Given the description of an element on the screen output the (x, y) to click on. 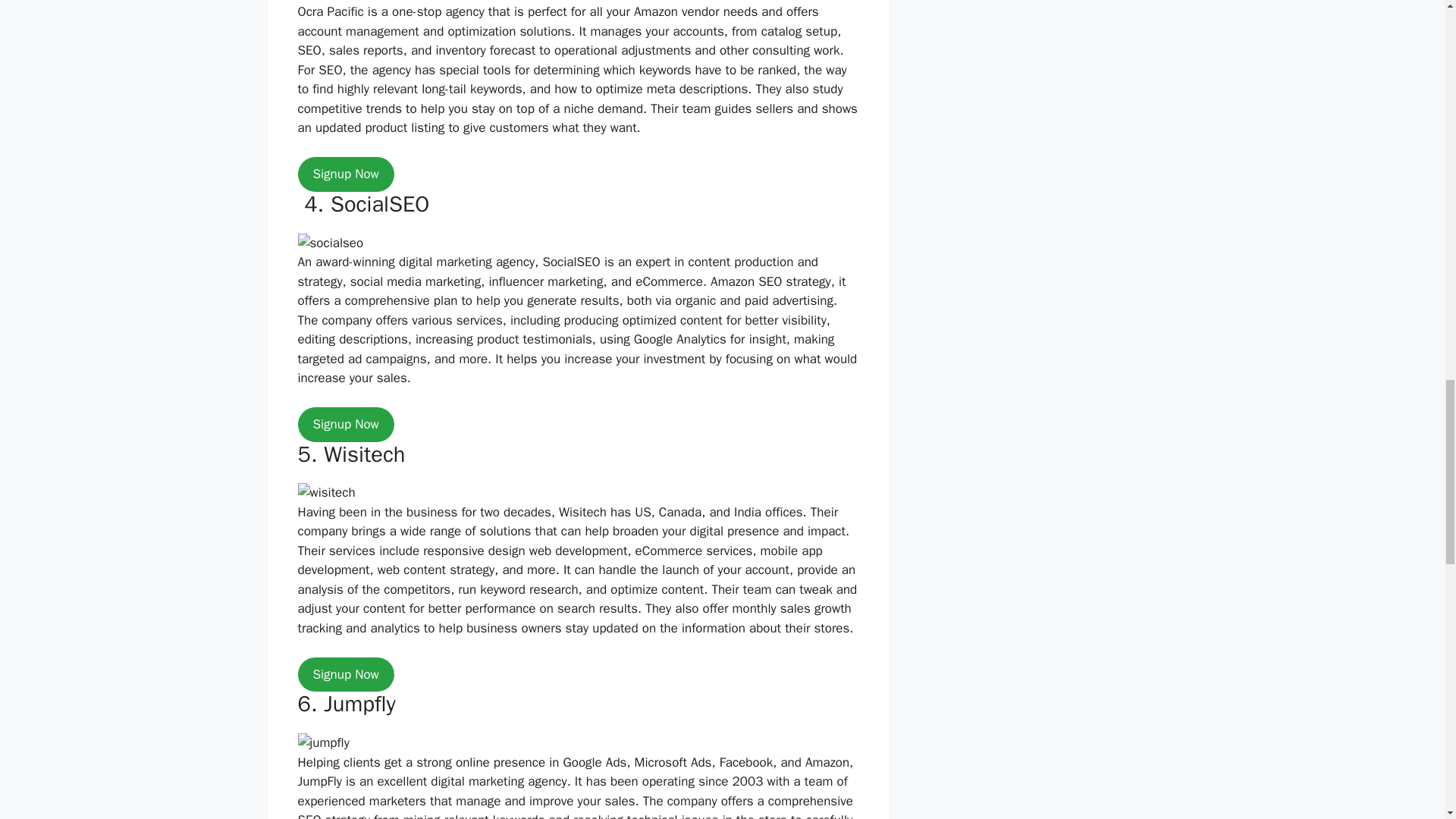
Signup Now (345, 674)
Signup Now (345, 174)
Signup Now (345, 424)
